Given the description of an element on the screen output the (x, y) to click on. 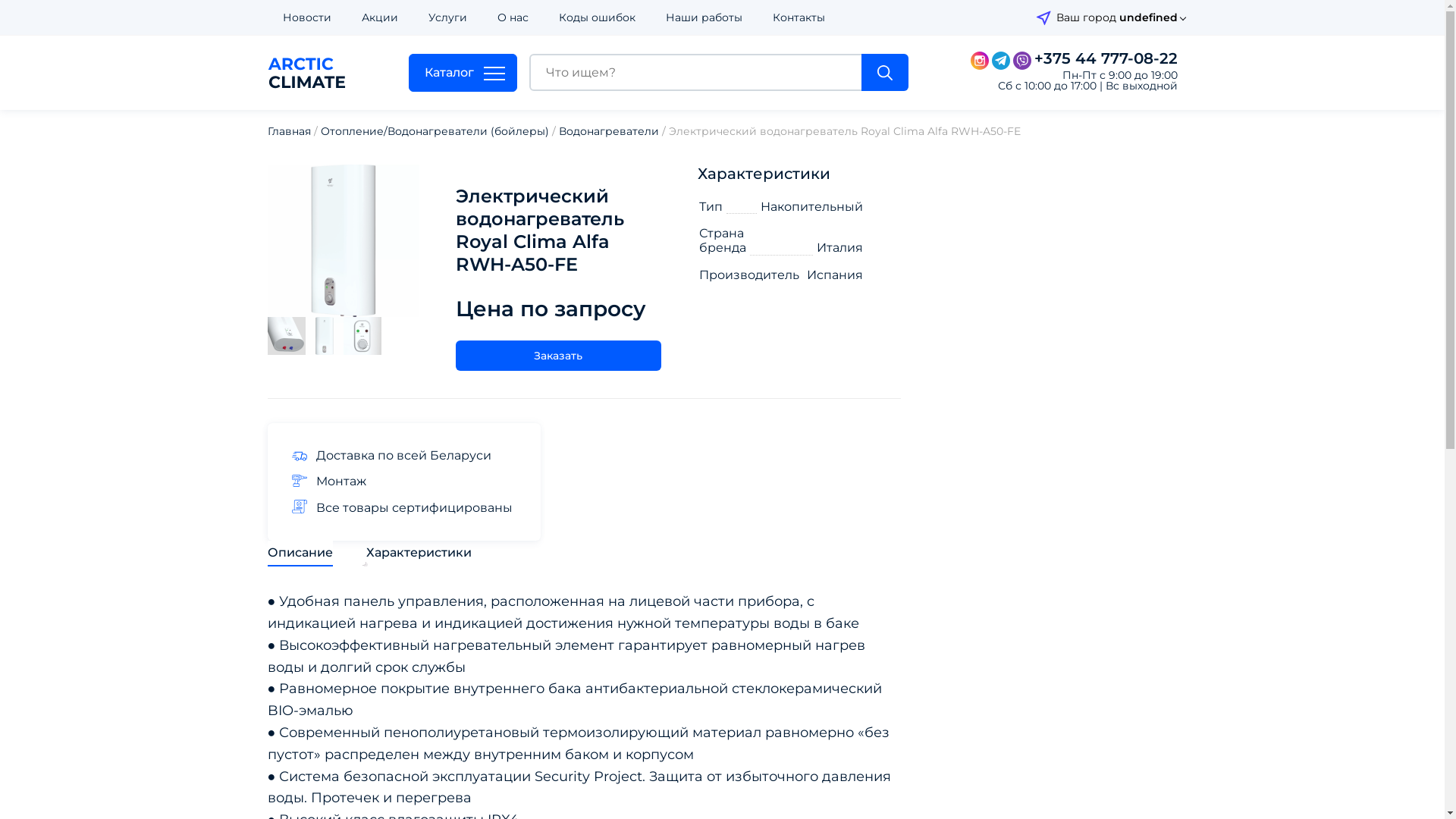
+375 44 777-08-22 Element type: text (1105, 58)
